Given the description of an element on the screen output the (x, y) to click on. 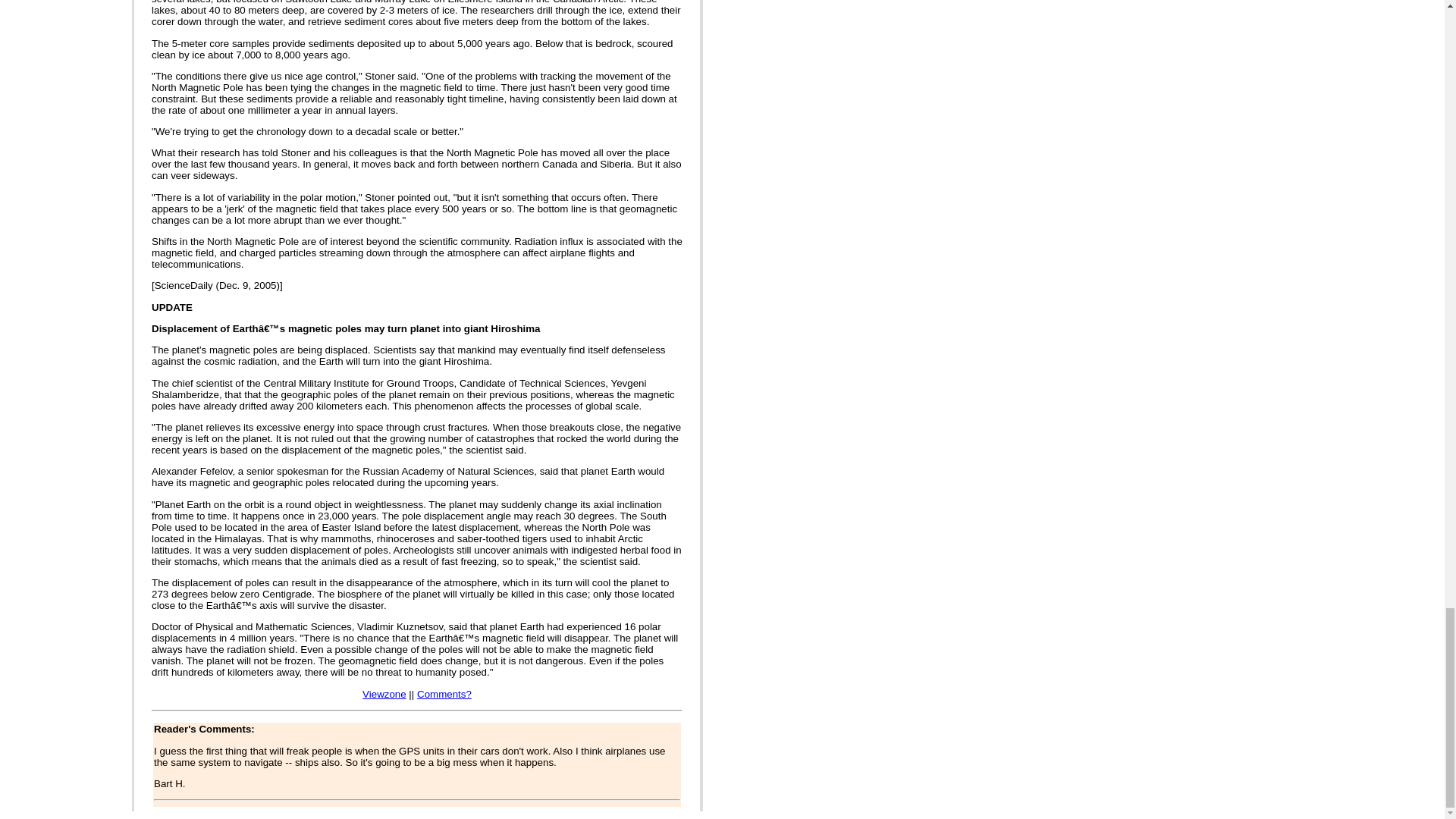
Comments? (443, 694)
Viewzone (384, 694)
